Given the description of an element on the screen output the (x, y) to click on. 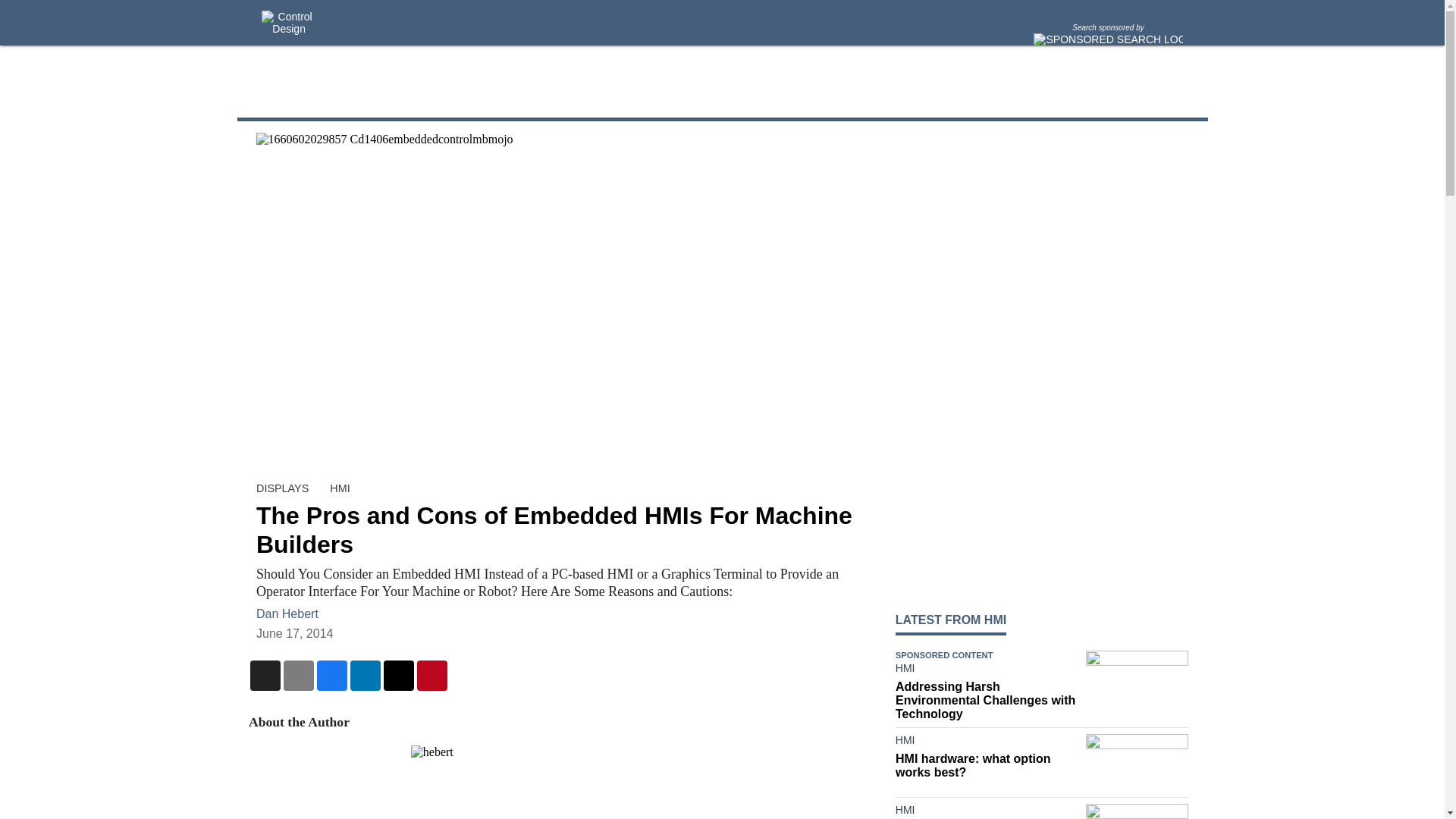
HMI (986, 670)
HMI (339, 488)
HMI (986, 811)
hebert (560, 782)
Addressing Harsh Environmental Challenges with Technology (986, 700)
HMI hardware: what option works best? (986, 765)
HMI (986, 742)
Dan Hebert (287, 612)
DISPLAYS (282, 488)
